Given the description of an element on the screen output the (x, y) to click on. 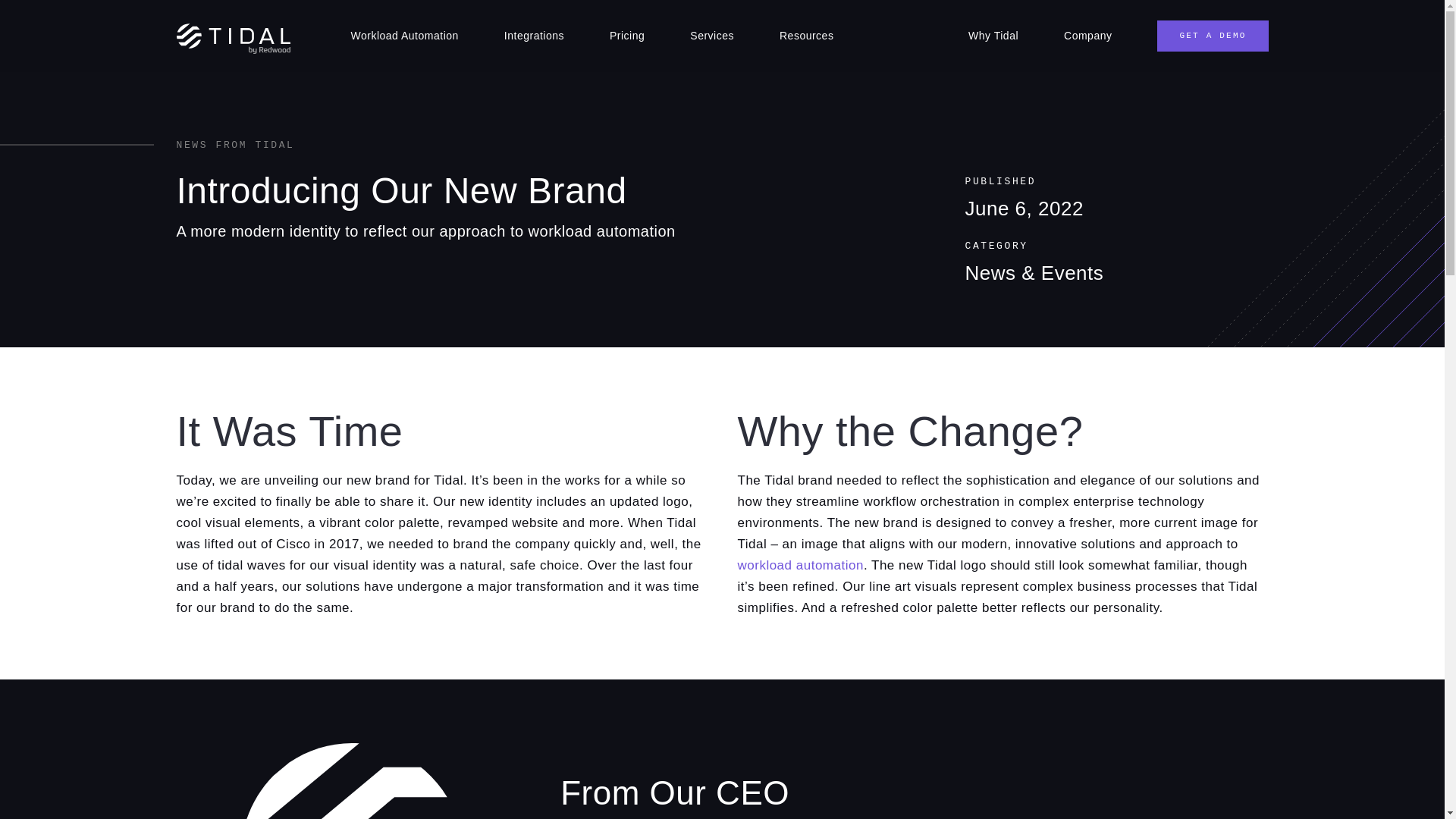
Workload Automation (403, 36)
Integrations (533, 36)
Services (711, 36)
Resources (806, 36)
Pricing (626, 36)
